Given the description of an element on the screen output the (x, y) to click on. 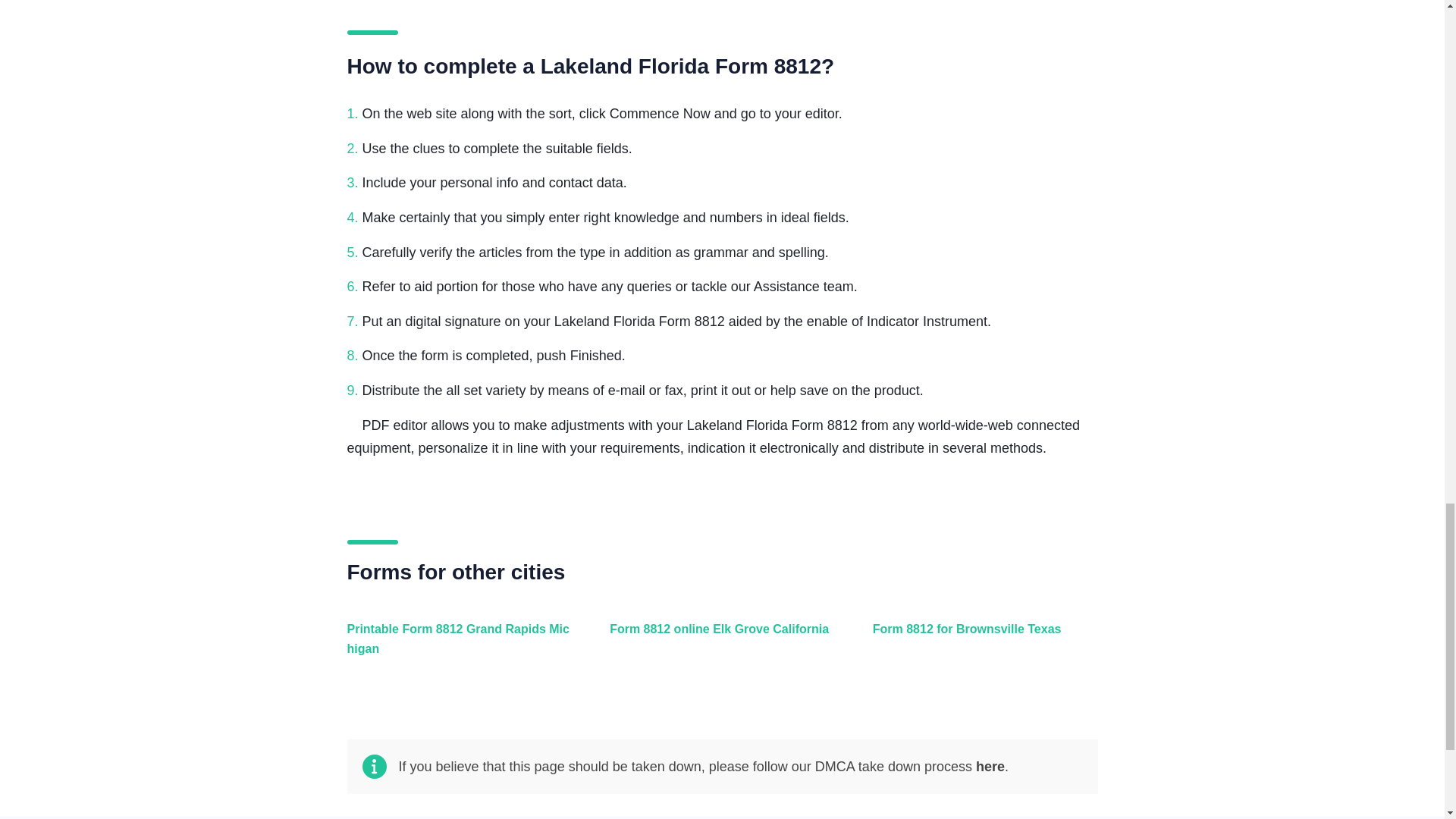
Form 8812 for Brownsville Texas (981, 646)
Printable Form 8812 Grand Rapids Michigan (456, 646)
Form 8812 online Elk Grove California (718, 646)
here (989, 766)
